Given the description of an element on the screen output the (x, y) to click on. 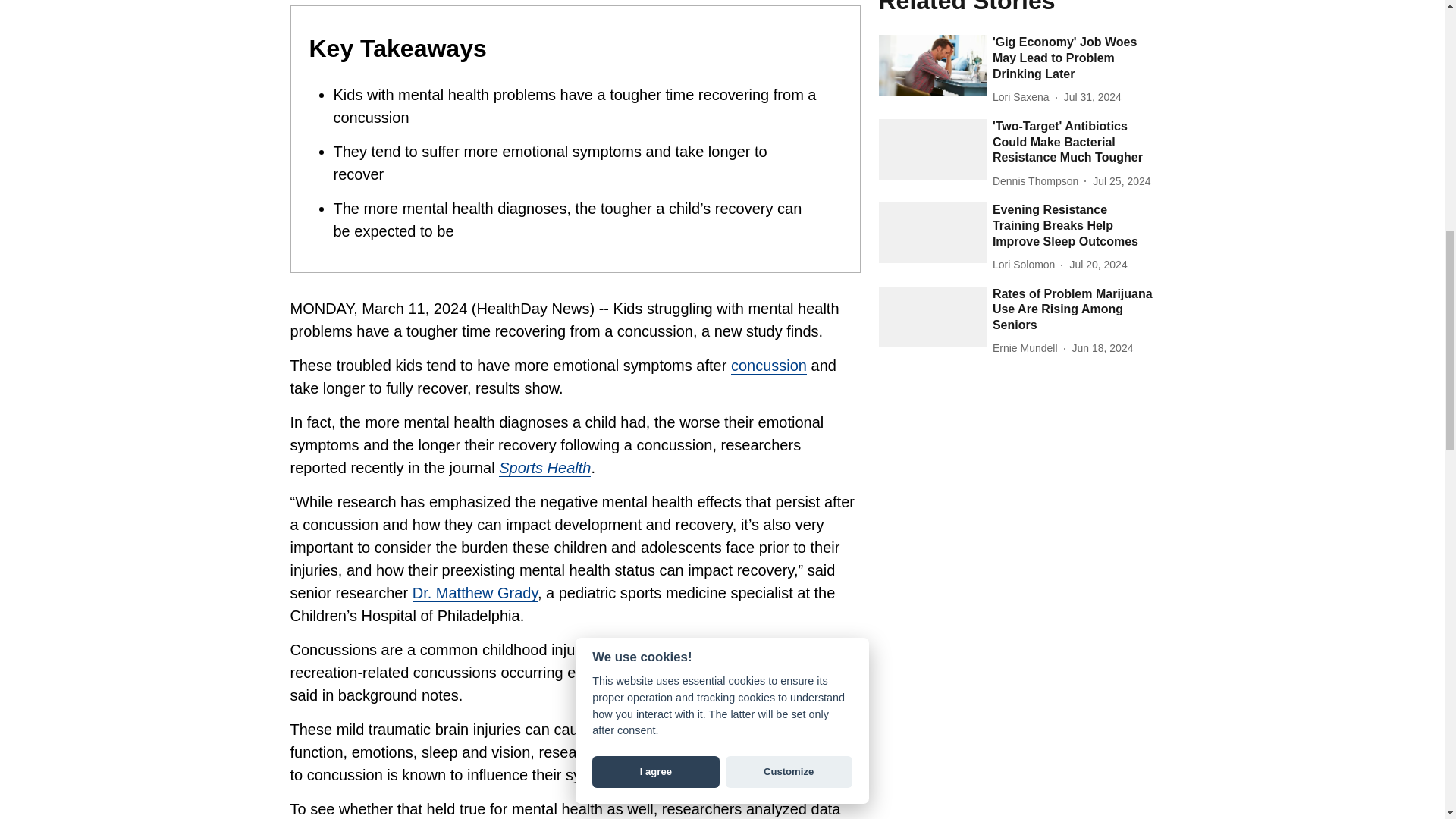
2024-07-25 10:13 (1121, 181)
2024-07-31 09:38 (1092, 97)
2024-06-18 15:01 (1102, 348)
2024-07-19 16:10 (1097, 264)
